Given the description of an element on the screen output the (x, y) to click on. 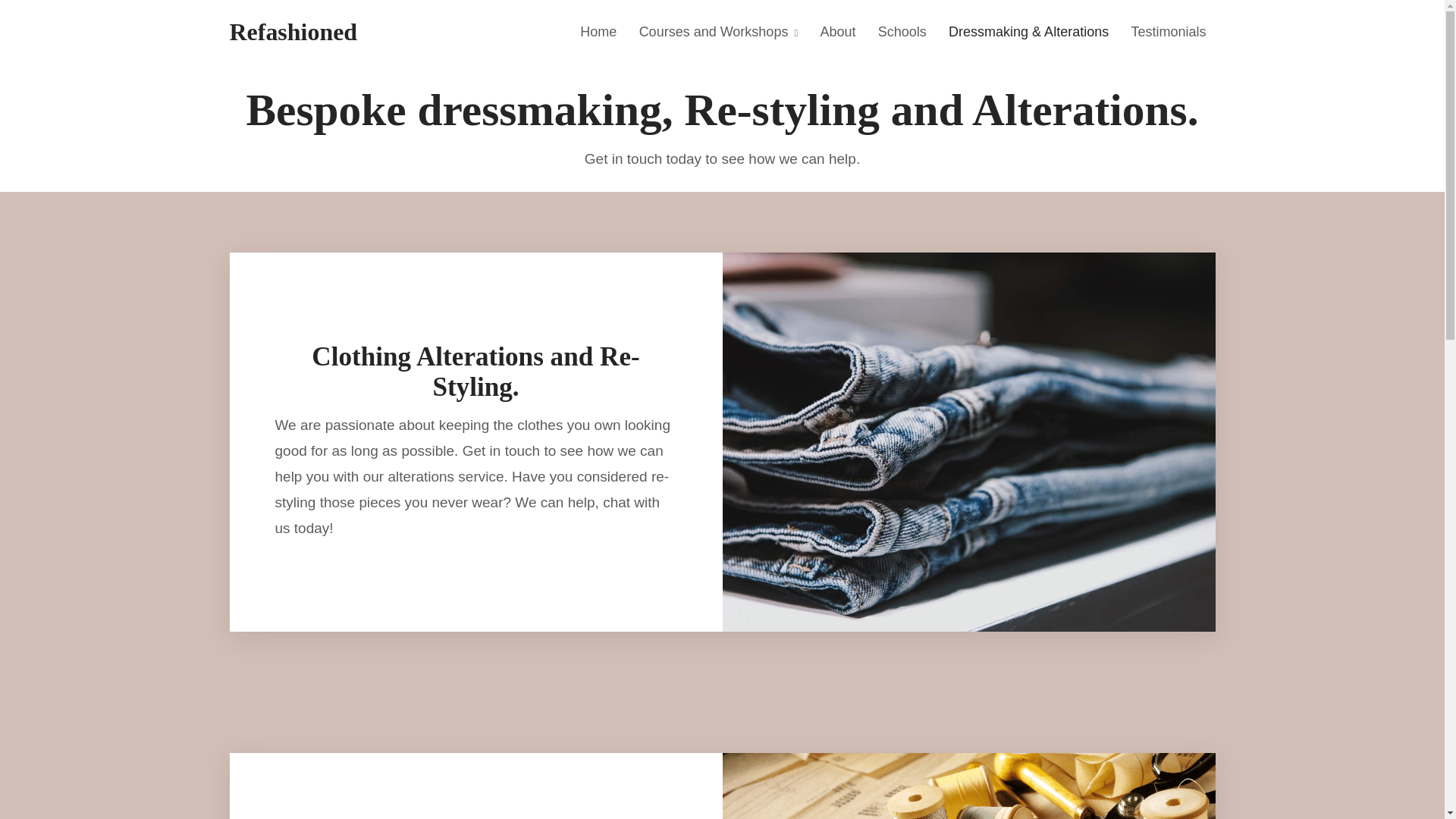
Schools (902, 31)
Refashioned (292, 31)
Testimonials (1167, 31)
Home (598, 31)
About (837, 31)
